Given the description of an element on the screen output the (x, y) to click on. 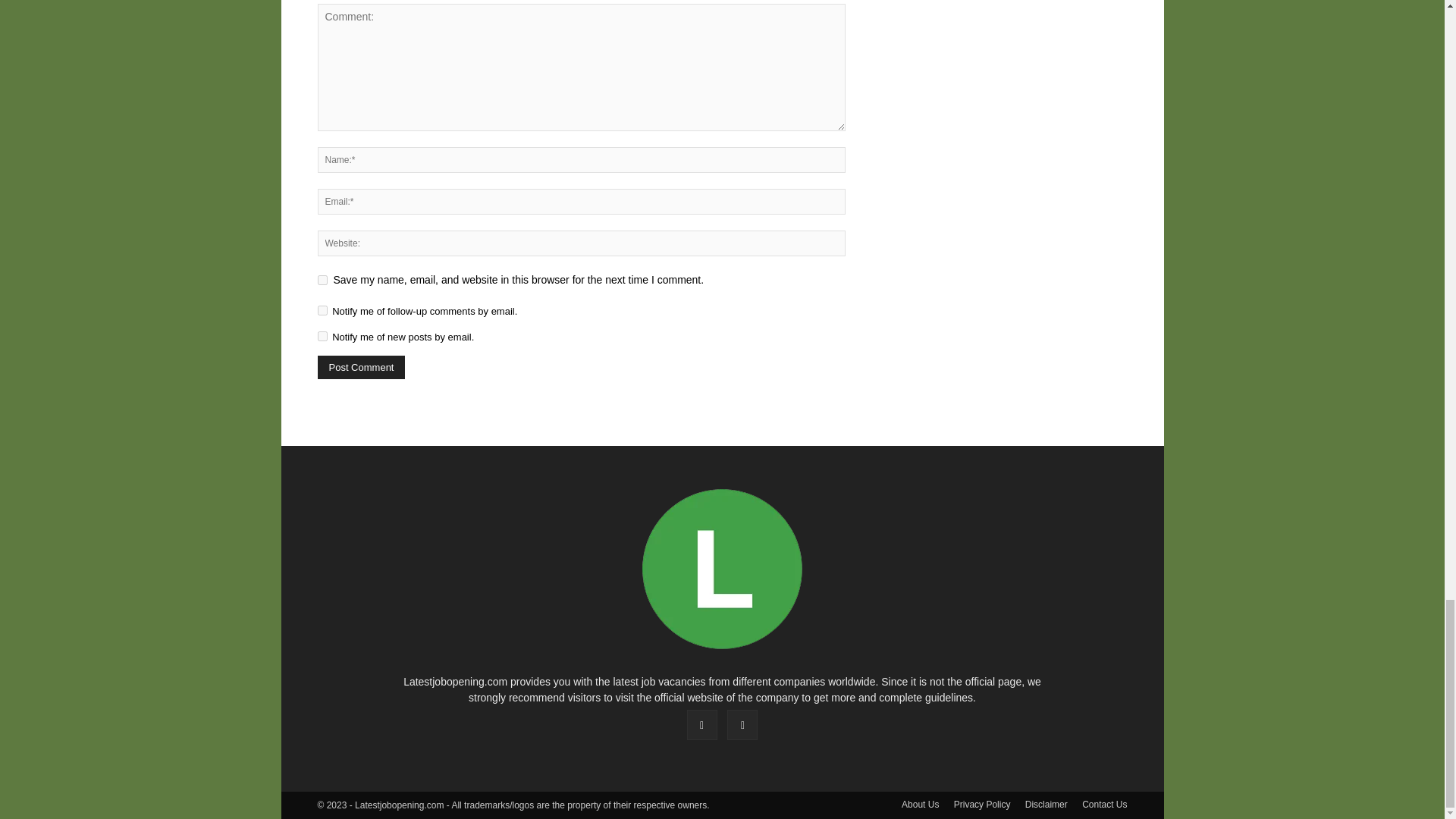
yes (321, 280)
Post Comment (360, 367)
Linkedin (702, 725)
subscribe (321, 310)
Latest Job Openings (722, 569)
Telegram (741, 725)
subscribe (321, 336)
